Given the description of an element on the screen output the (x, y) to click on. 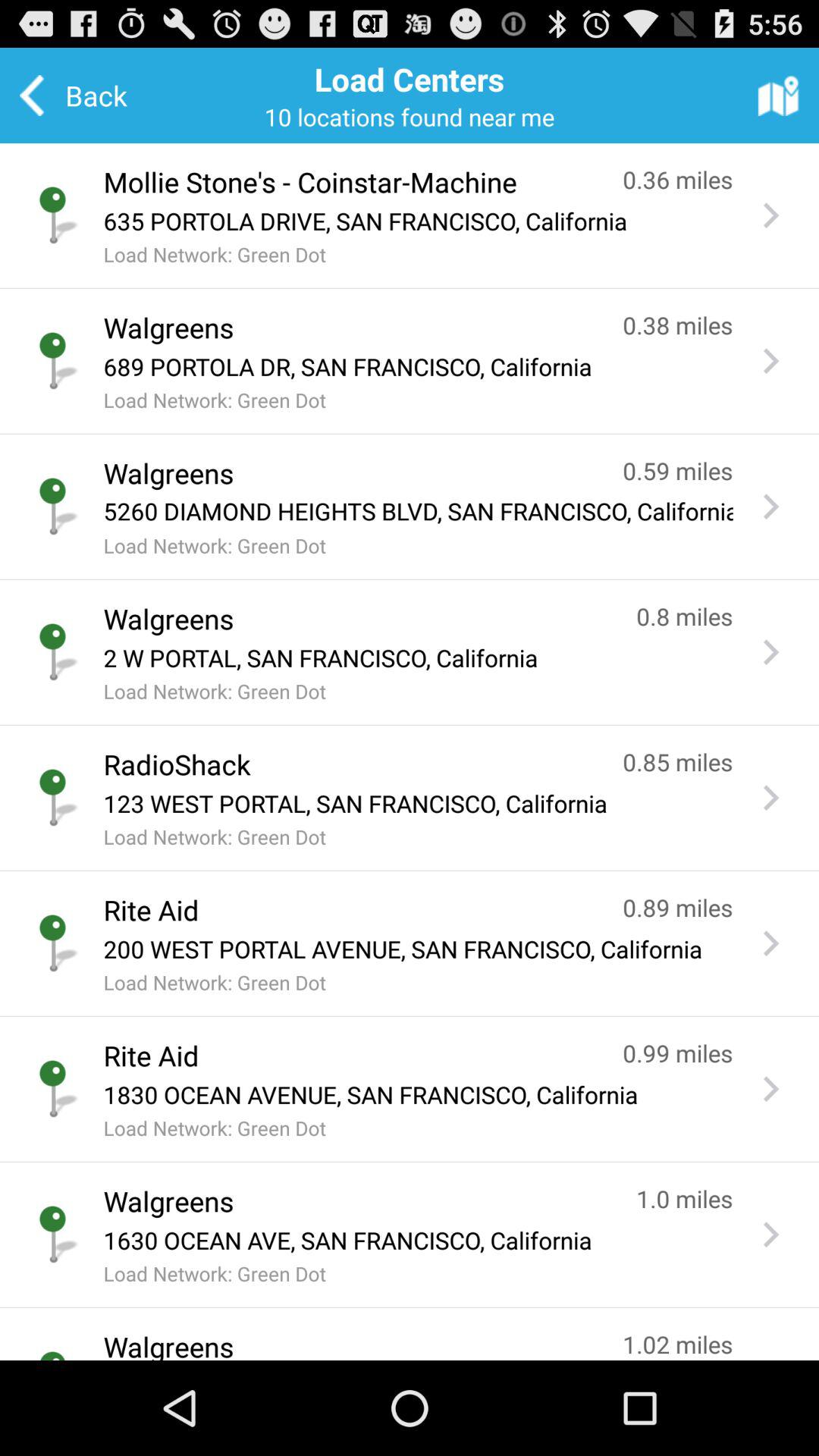
launch the icon below the walgreens app (418, 657)
